Given the description of an element on the screen output the (x, y) to click on. 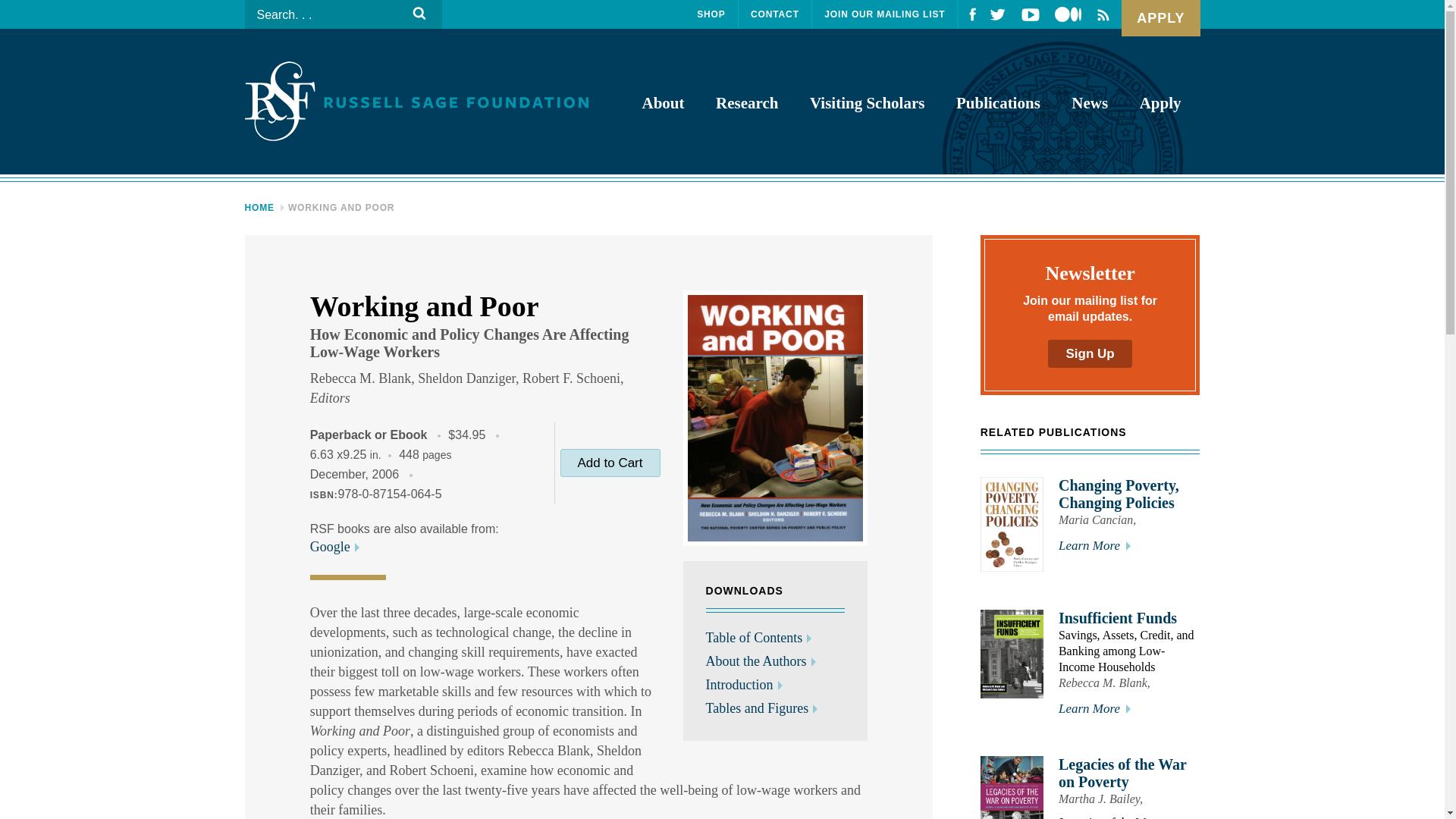
About (661, 103)
CONTACT (775, 14)
JOIN OUR MAILING LIST (885, 14)
Medium (1063, 14)
Research (746, 103)
Twitter (998, 14)
RSS Feed (1099, 14)
SHOP (711, 14)
Twitter (992, 14)
Medium (1067, 14)
RSS Feed (1101, 15)
YouTube (1030, 14)
Enter the terms you wish to search for. (342, 14)
YouTube (1026, 14)
